Given the description of an element on the screen output the (x, y) to click on. 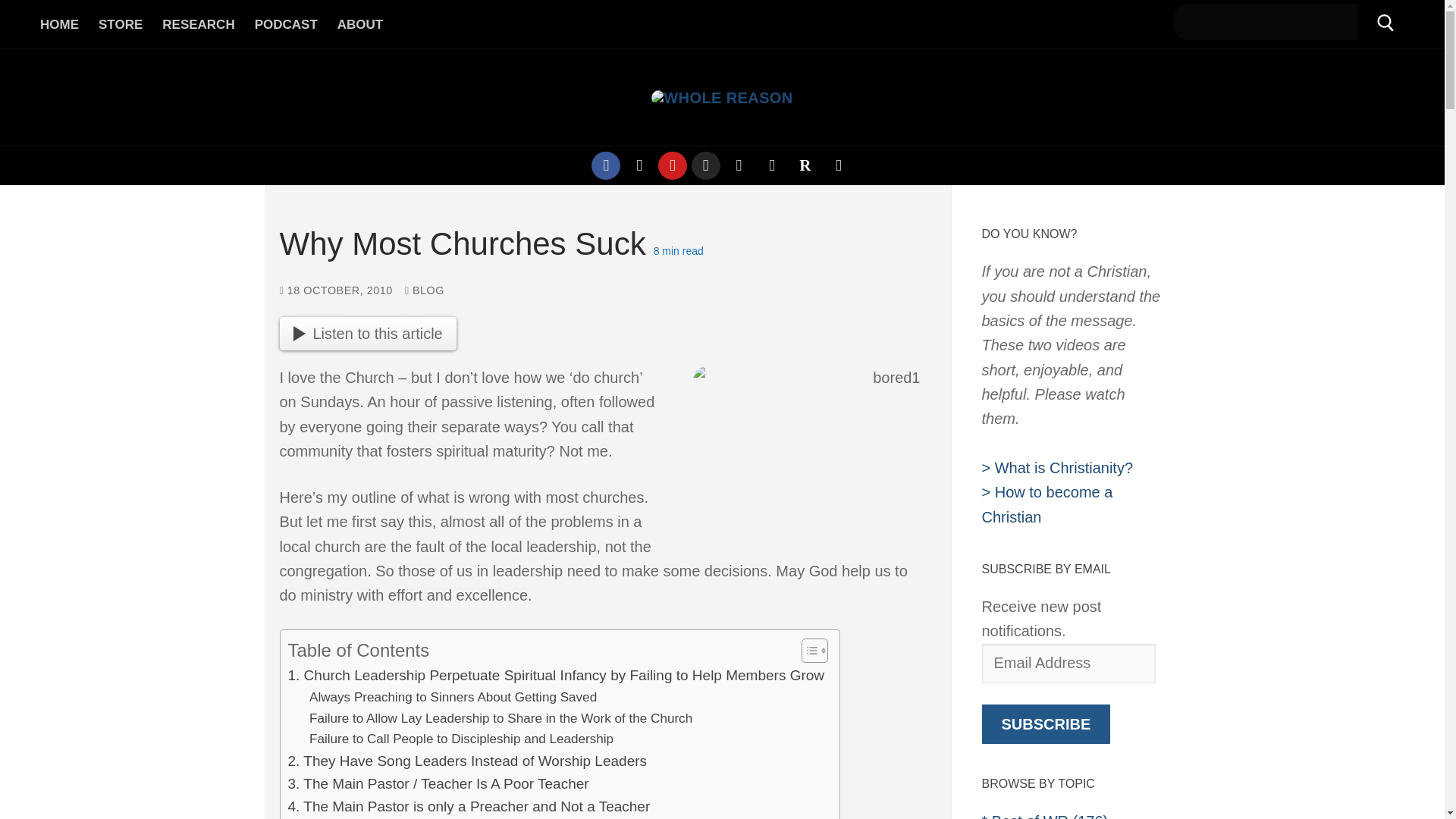
Truth Social (772, 165)
TikTok (837, 165)
BLOG (424, 290)
RESEARCH (198, 24)
18 OCTOBER, 2010 (335, 290)
X (639, 165)
Always Preaching to Sinners About Getting Saved (452, 697)
Podcast (738, 165)
Youtube (671, 165)
HOME (59, 24)
ABOUT (360, 24)
Rumble (804, 165)
PODCAST (285, 24)
